Given the description of an element on the screen output the (x, y) to click on. 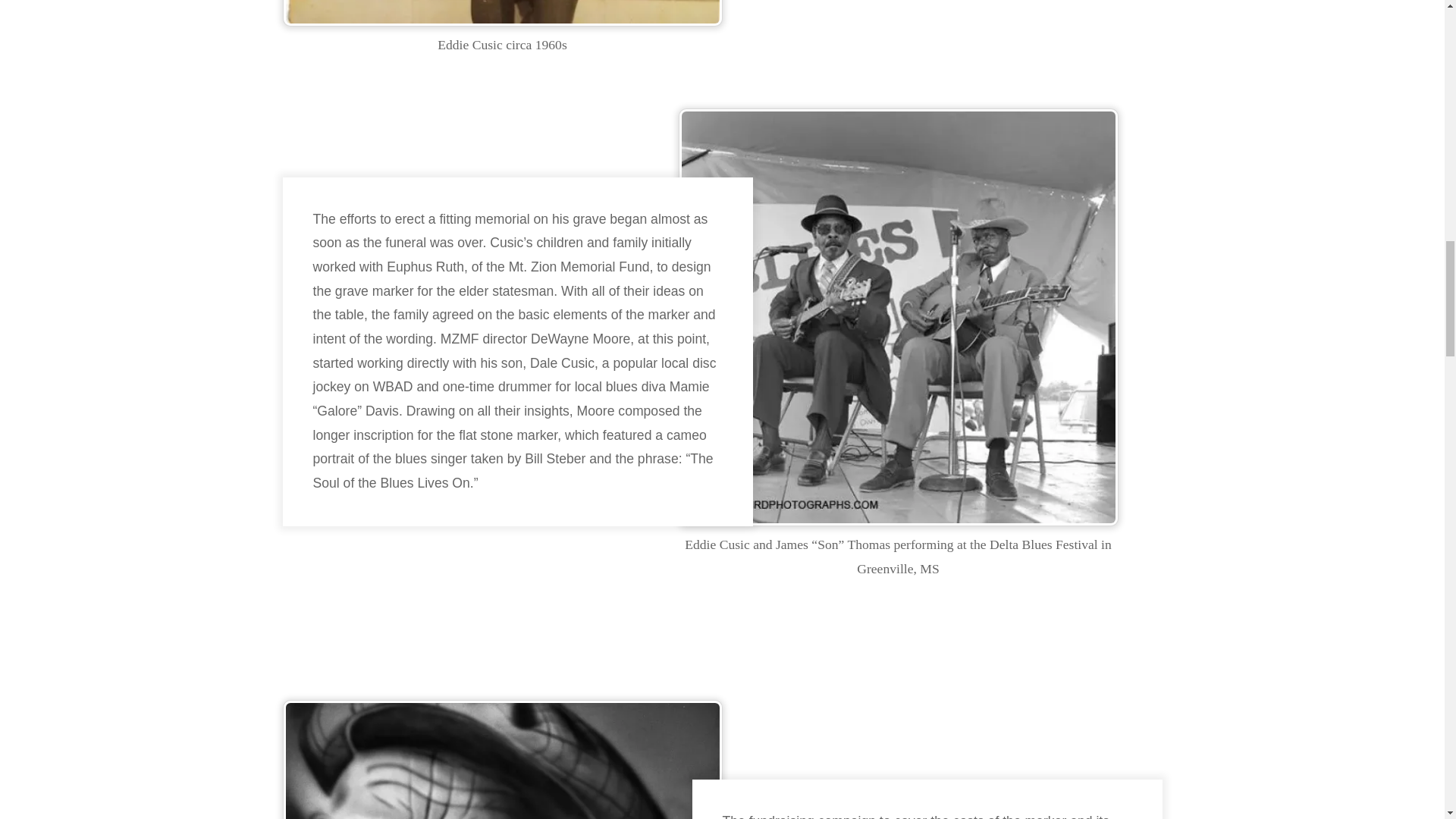
Eddie Cucic 2 (502, 759)
